Given the description of an element on the screen output the (x, y) to click on. 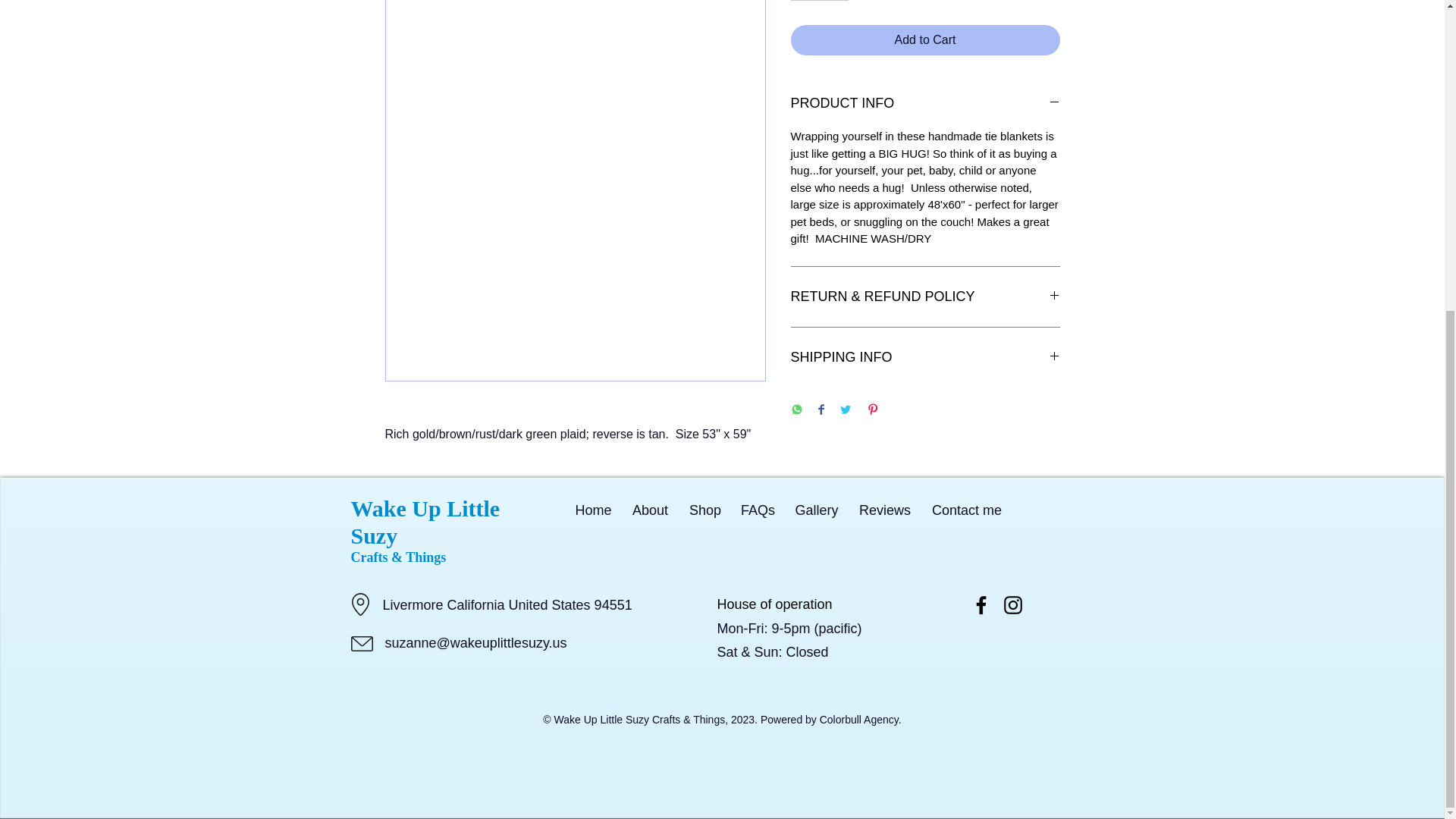
1 (818, 0)
Add to Cart (924, 40)
Shop (705, 510)
SHIPPING INFO (924, 357)
About (650, 510)
Contact me (965, 510)
Home (593, 510)
Reviews (884, 510)
FAQs (757, 510)
Gallery (816, 510)
Powered by Colorbull Agency. (830, 719)
PRODUCT INFO (924, 103)
